Given the description of an element on the screen output the (x, y) to click on. 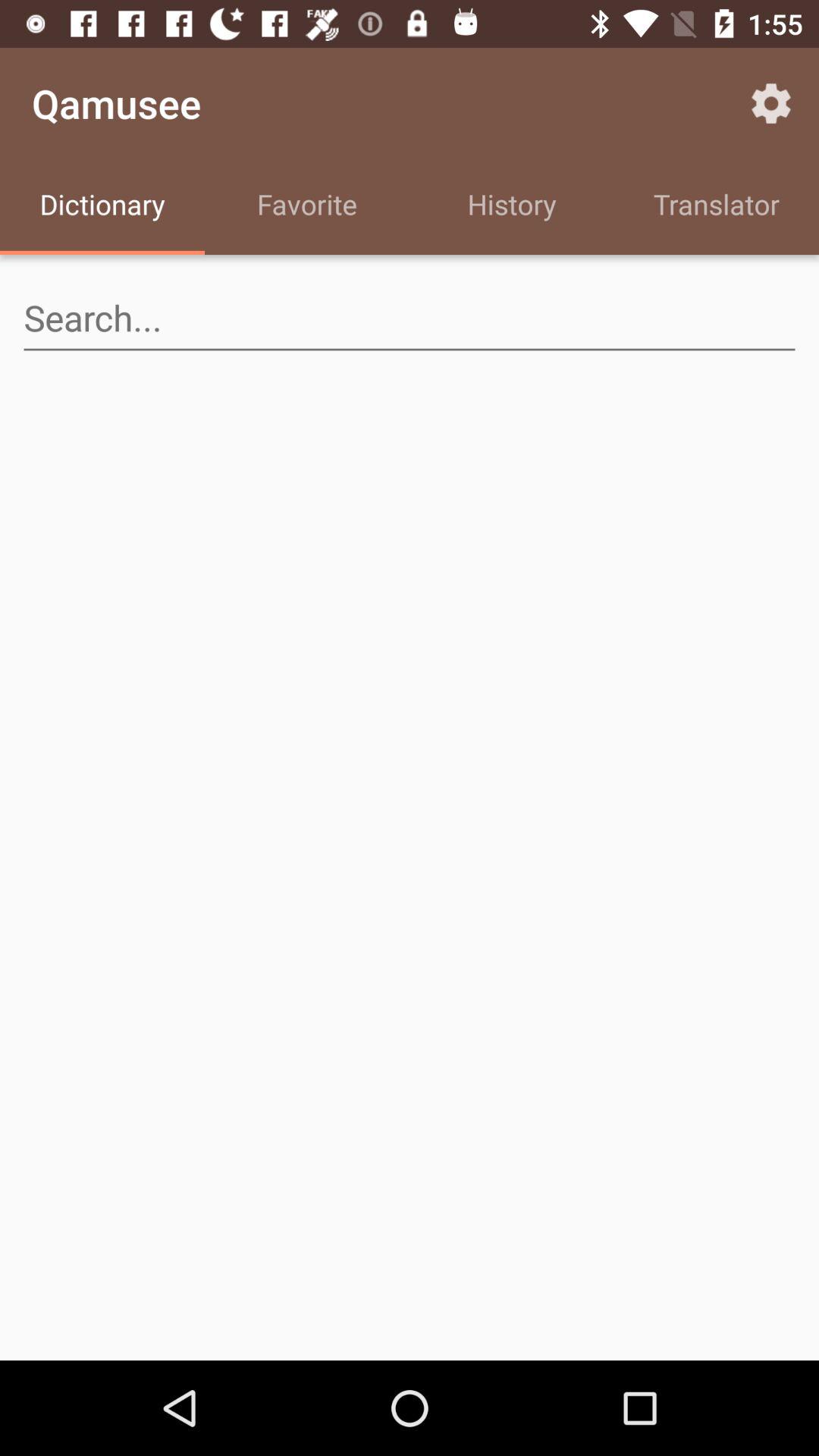
choose the icon to the right of favorite icon (511, 206)
